Given the description of an element on the screen output the (x, y) to click on. 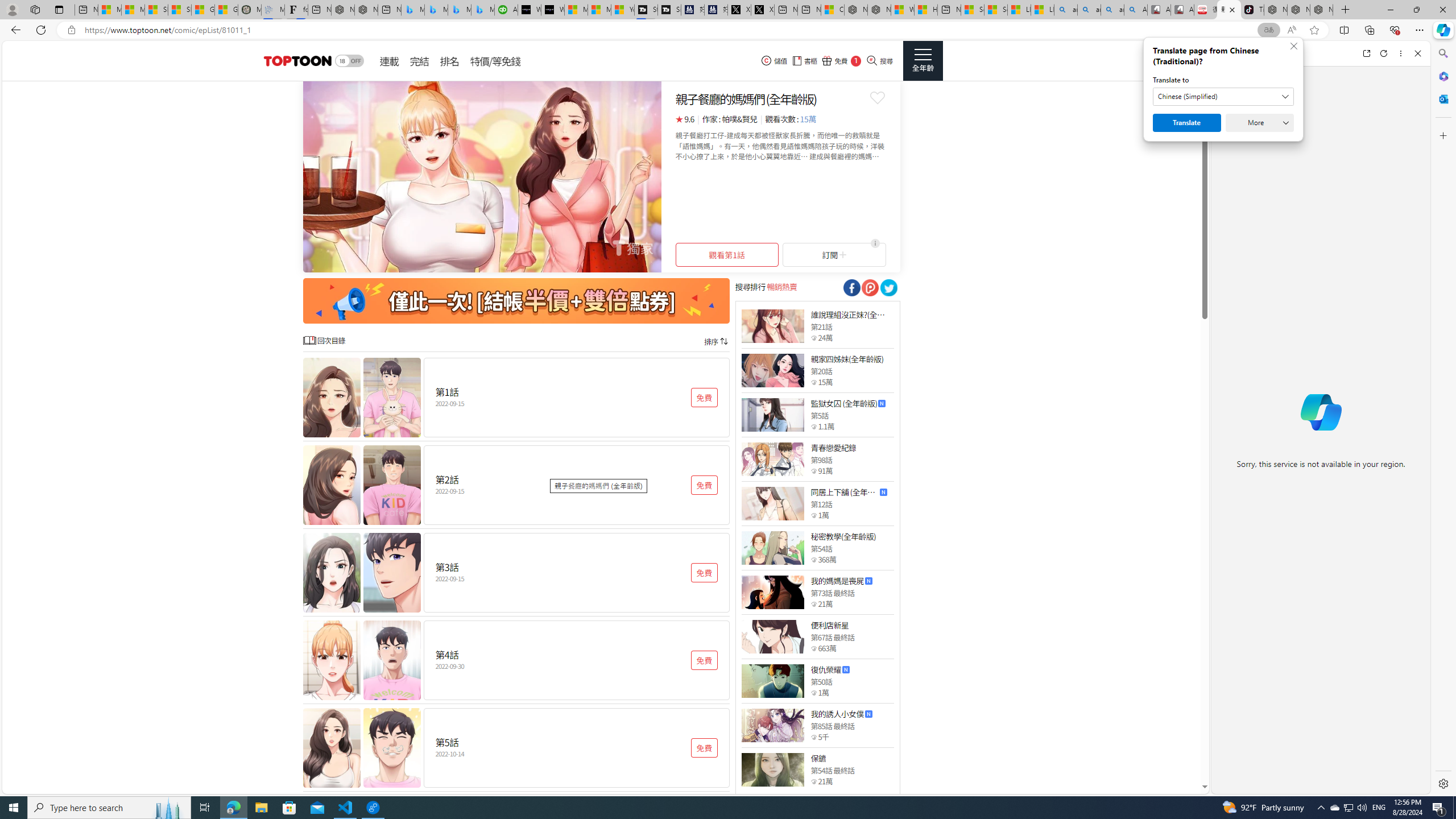
Translate to (1223, 96)
Microsoft Start Sports (575, 9)
